Given the description of an element on the screen output the (x, y) to click on. 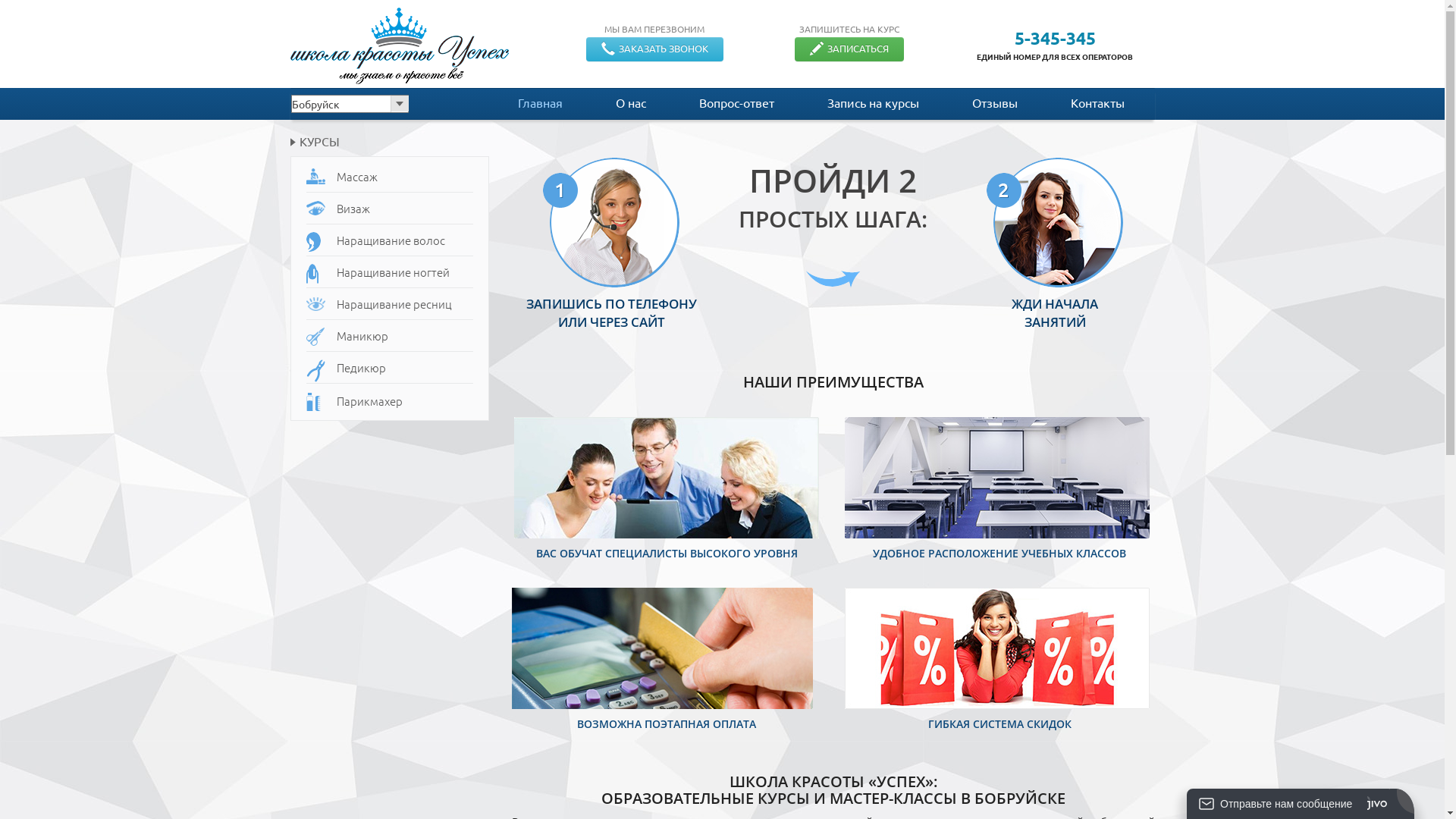
5-345-345 Element type: text (1054, 38)
